Given the description of an element on the screen output the (x, y) to click on. 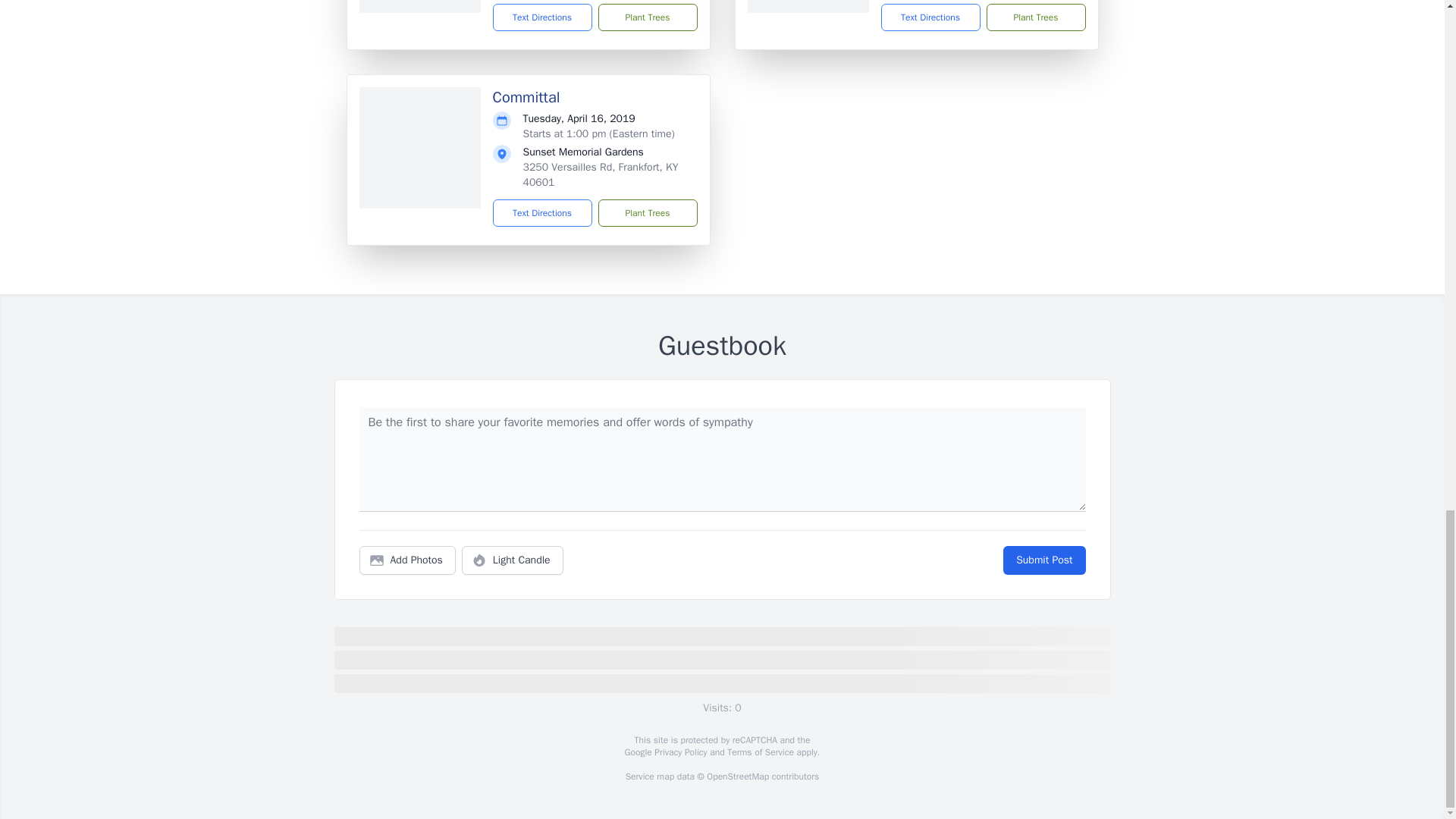
Text Directions (542, 212)
Text Directions (542, 17)
Plant Trees (1034, 17)
Terms of Service (759, 752)
Plant Trees (646, 17)
Light Candle (512, 560)
Add Photos (407, 560)
Privacy Policy (679, 752)
Plant Trees (646, 212)
Submit Post (1043, 560)
